Given the description of an element on the screen output the (x, y) to click on. 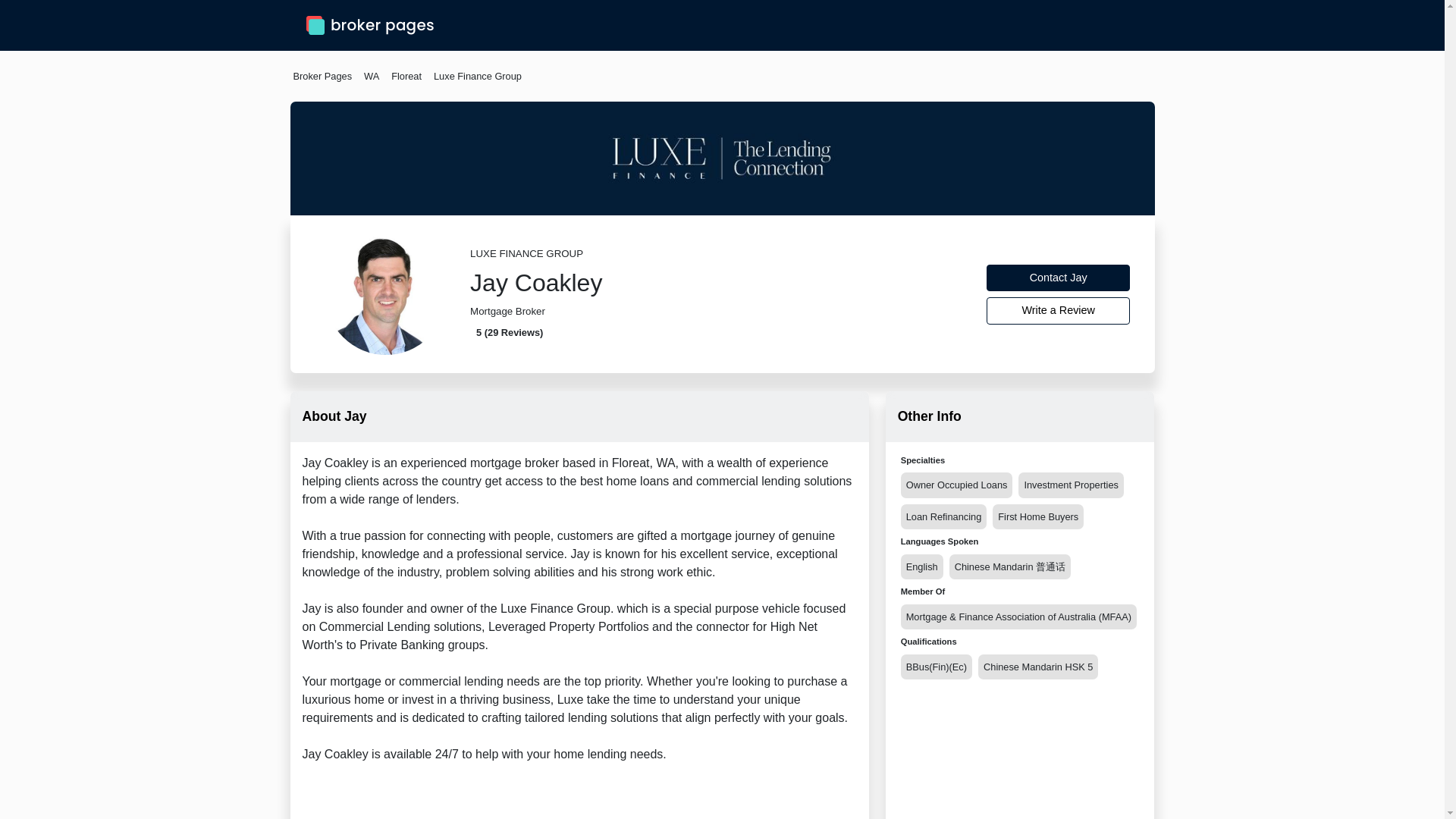
Broker Pages (322, 75)
Floreat (406, 75)
Write a Review (1059, 310)
Contact Jay (1059, 277)
